Given the description of an element on the screen output the (x, y) to click on. 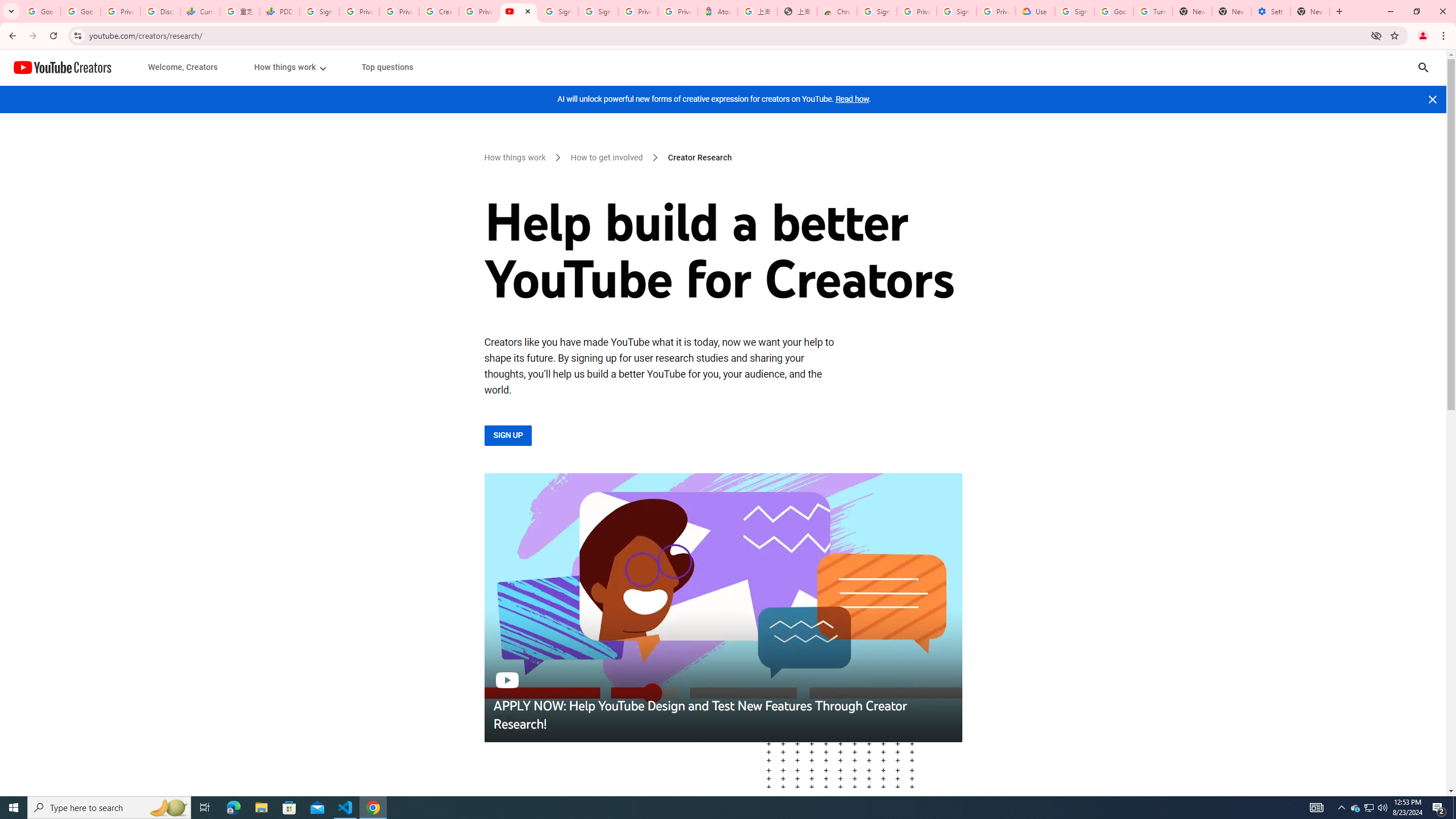
Google Workspace Admin Community (40, 11)
Welcome, Creators (183, 67)
